Given the description of an element on the screen output the (x, y) to click on. 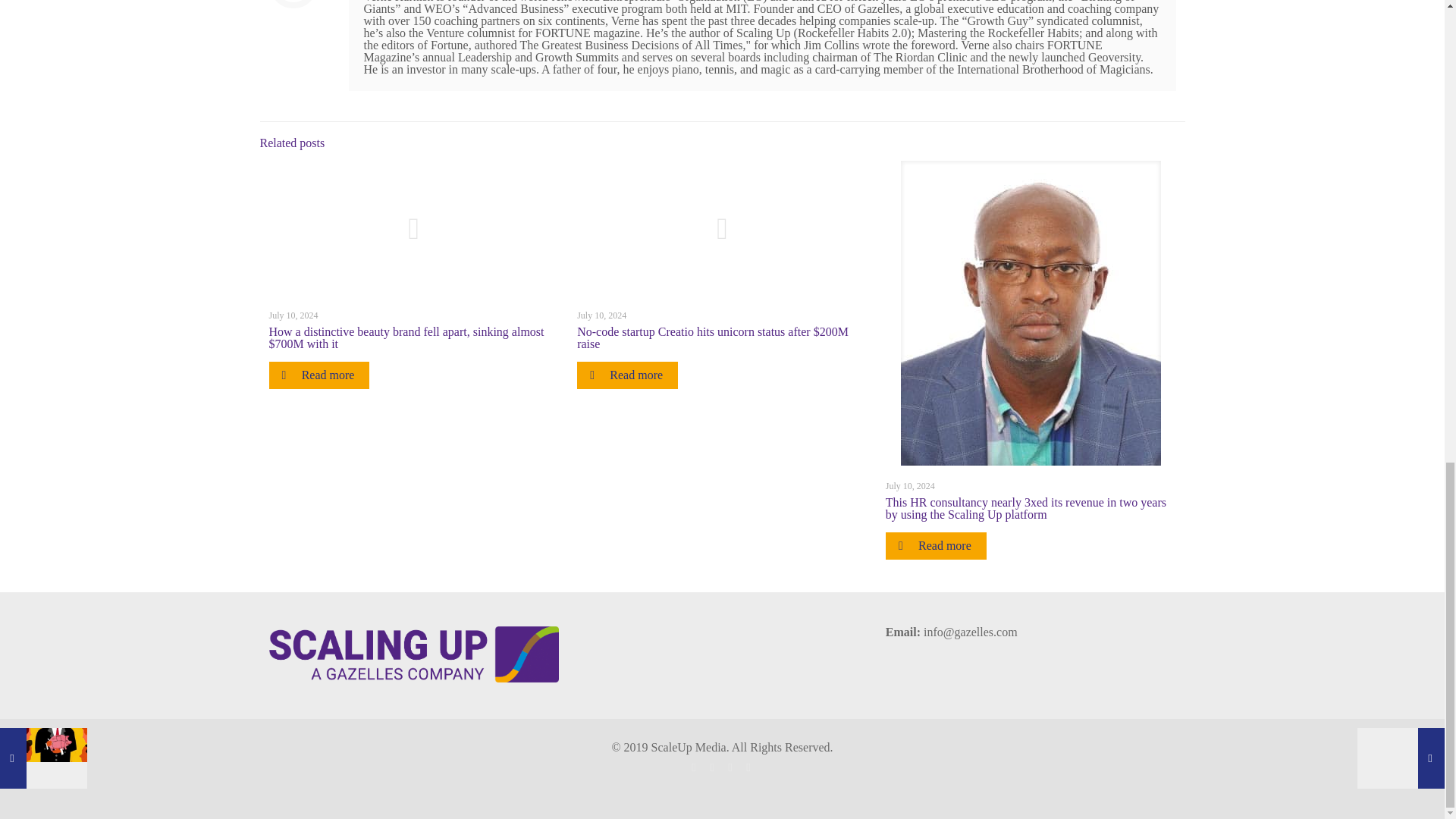
Read more (318, 375)
YouTube (731, 767)
LinkedIn (749, 767)
Twitter (713, 767)
Read more (627, 375)
Facebook (694, 767)
Read more (936, 545)
